Given the description of an element on the screen output the (x, y) to click on. 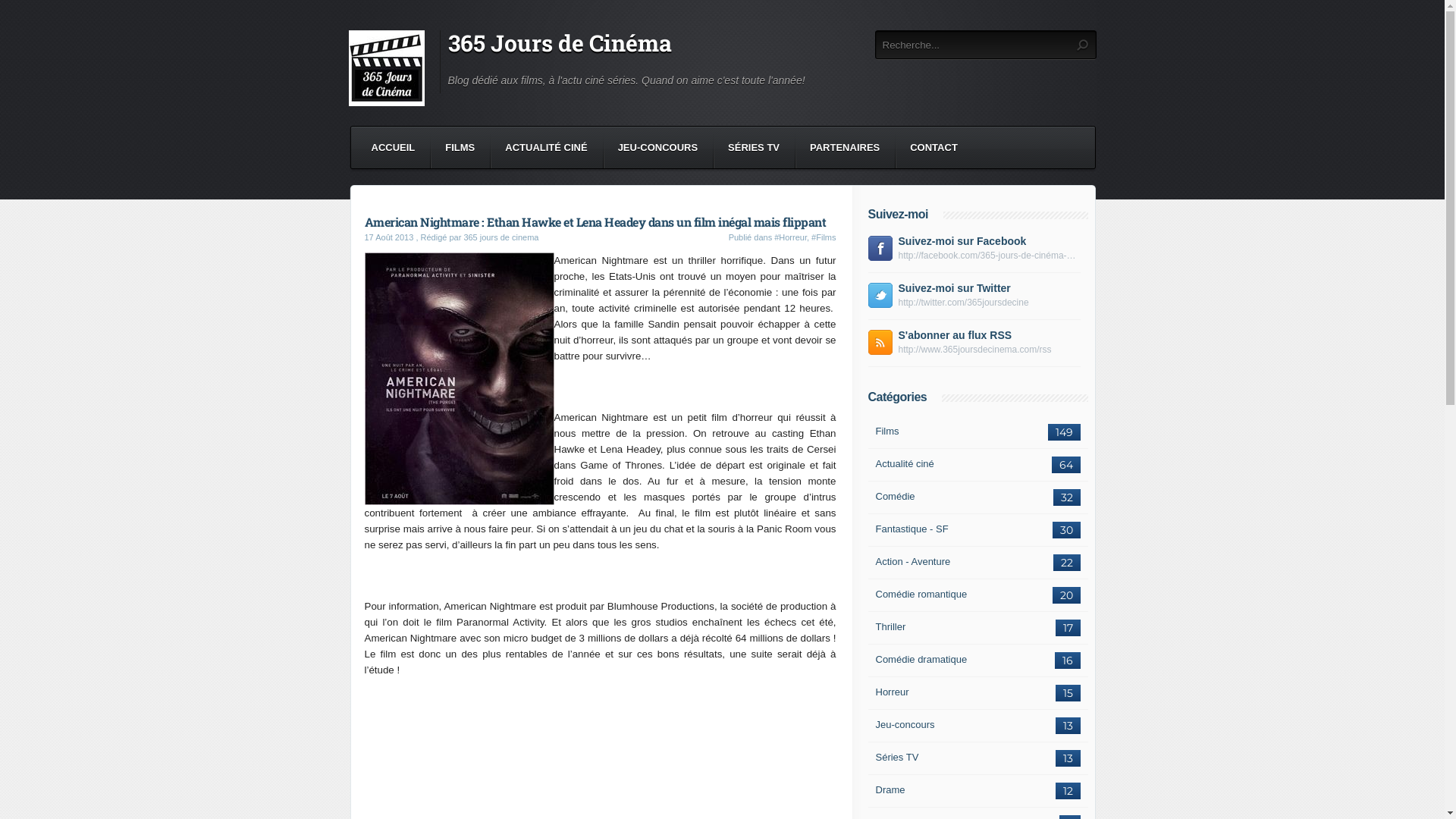
Drame Element type: text (889, 789)
#Films Element type: text (823, 236)
CONTACT Element type: text (933, 147)
Action - Aventure Element type: text (912, 561)
FILMS Element type: text (459, 147)
Jeu-concours Element type: text (904, 724)
Films Element type: text (886, 431)
PARTENAIRES Element type: text (844, 147)
Recherche Element type: text (1081, 45)
Horreur Element type: text (891, 691)
JEU-CONCOURS Element type: text (657, 147)
S'abonner au flux RSS Element type: text (954, 335)
ACCUEIL Element type: text (393, 147)
Fantastique - SF Element type: text (911, 528)
http://www.365joursdecinema.com/rss Element type: text (988, 349)
#Horreur Element type: text (790, 236)
Thriller Element type: text (890, 626)
Suivez-moi sur Twitter Element type: text (953, 288)
Suivez-moi sur Facebook Element type: text (961, 241)
http://twitter.com/365joursdecine Element type: text (988, 302)
